Given the description of an element on the screen output the (x, y) to click on. 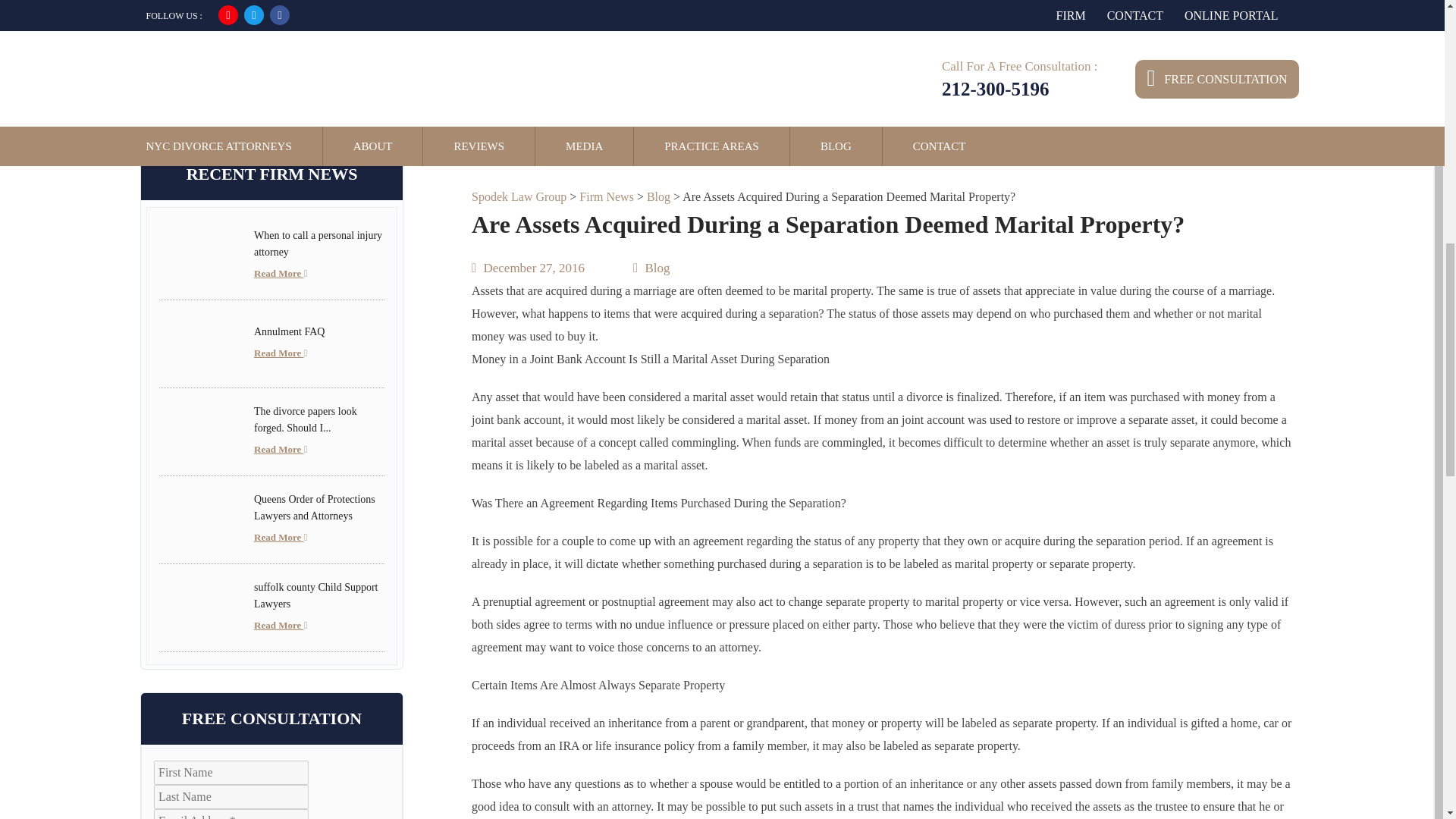
Go to the Blog Category archives. (657, 196)
Go to Firm News. (606, 196)
Go to Spodek Law Group. (518, 196)
